Given the description of an element on the screen output the (x, y) to click on. 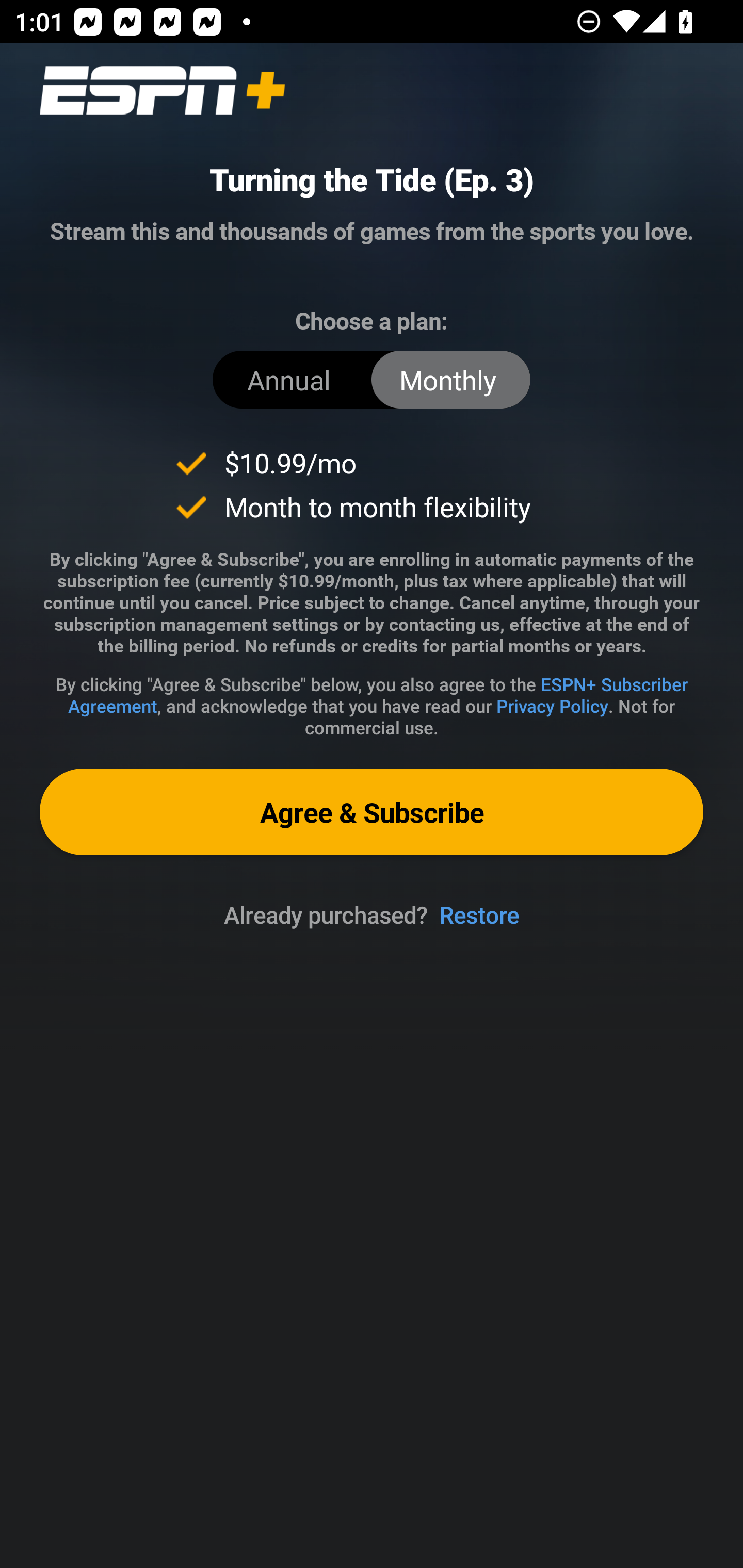
Agree & Subscribe (371, 811)
